Given the description of an element on the screen output the (x, y) to click on. 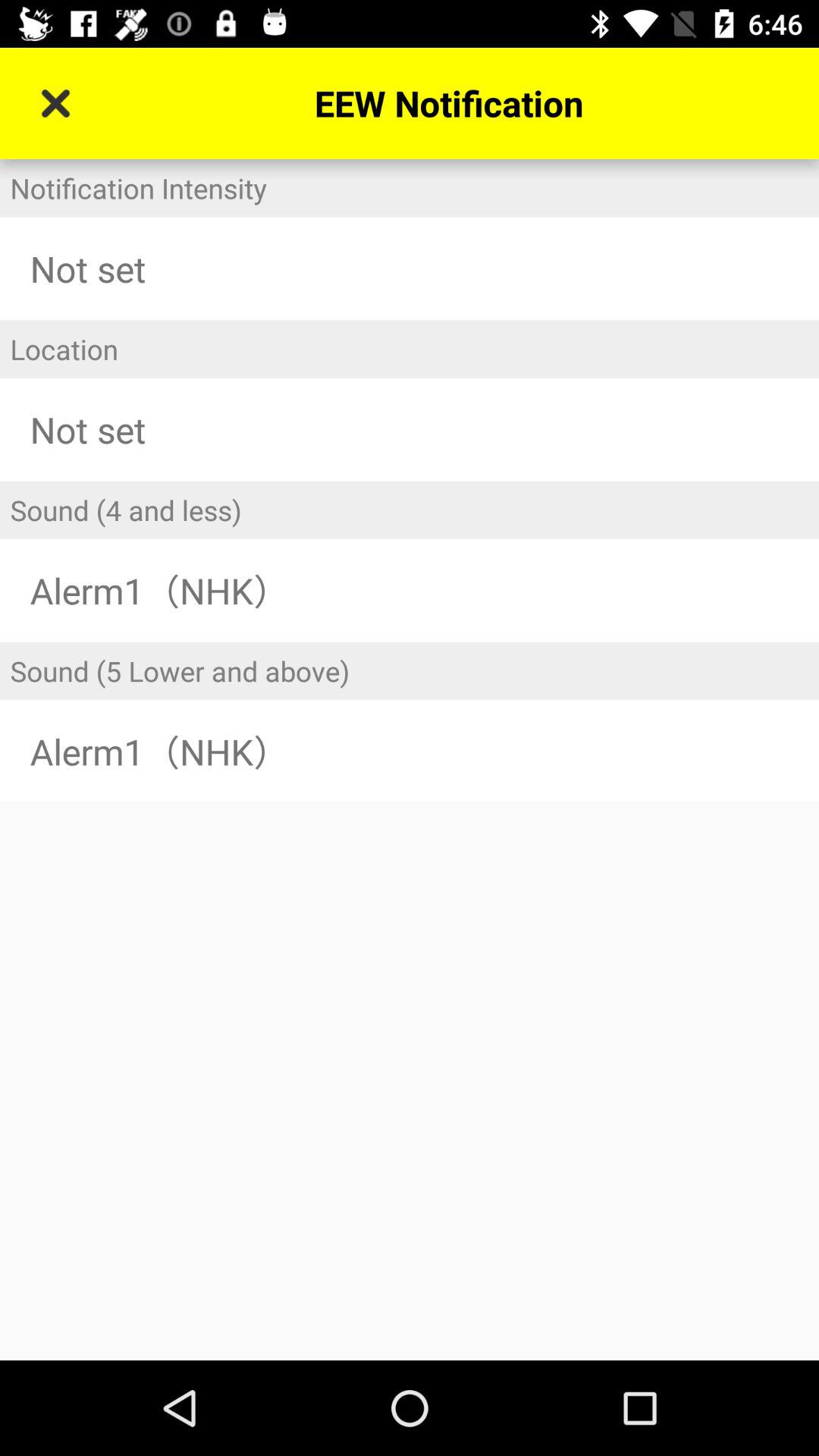
choose the notification intensity (409, 188)
